Given the description of an element on the screen output the (x, y) to click on. 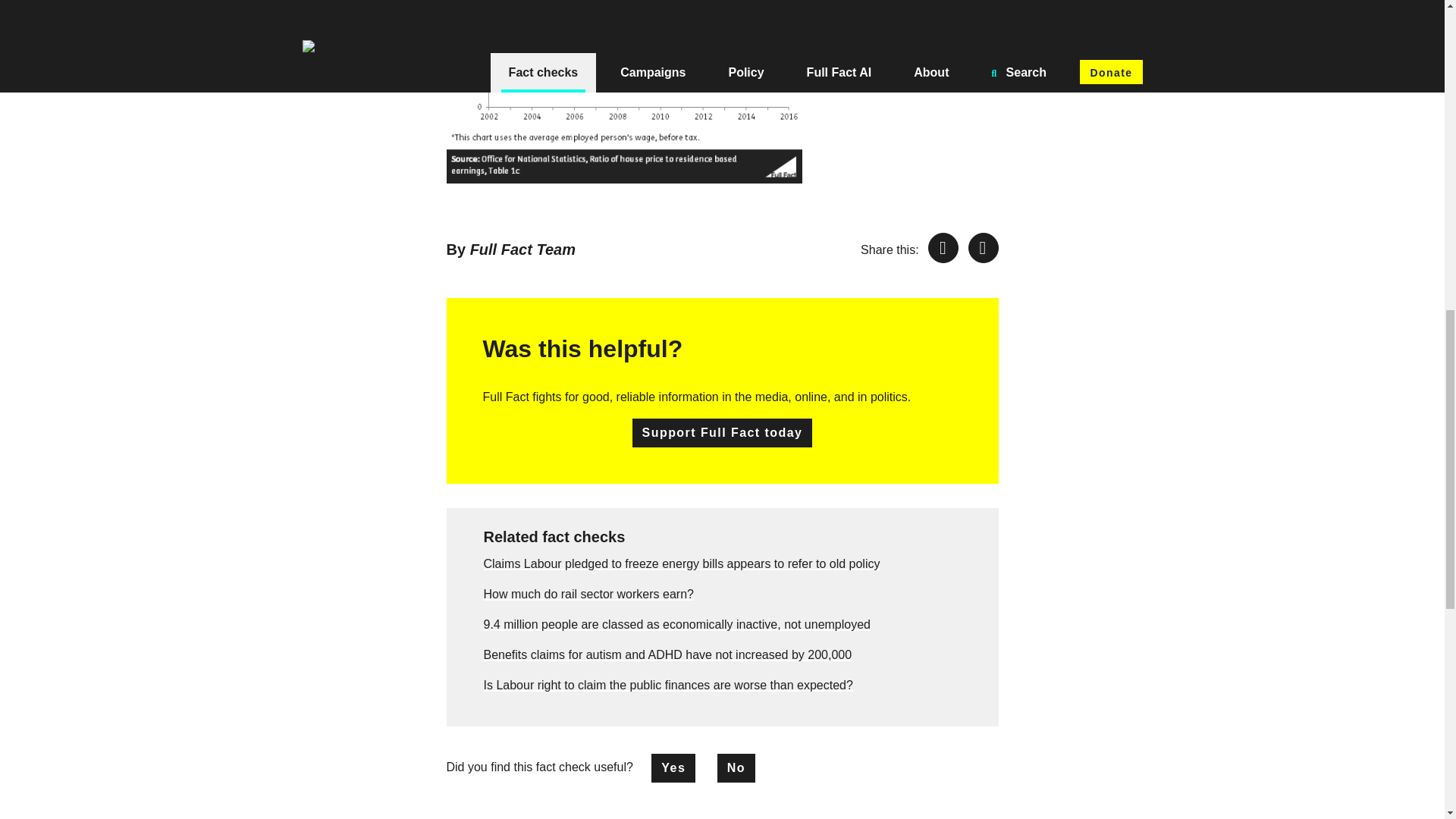
How much do rail sector workers earn? (588, 594)
